Given the description of an element on the screen output the (x, y) to click on. 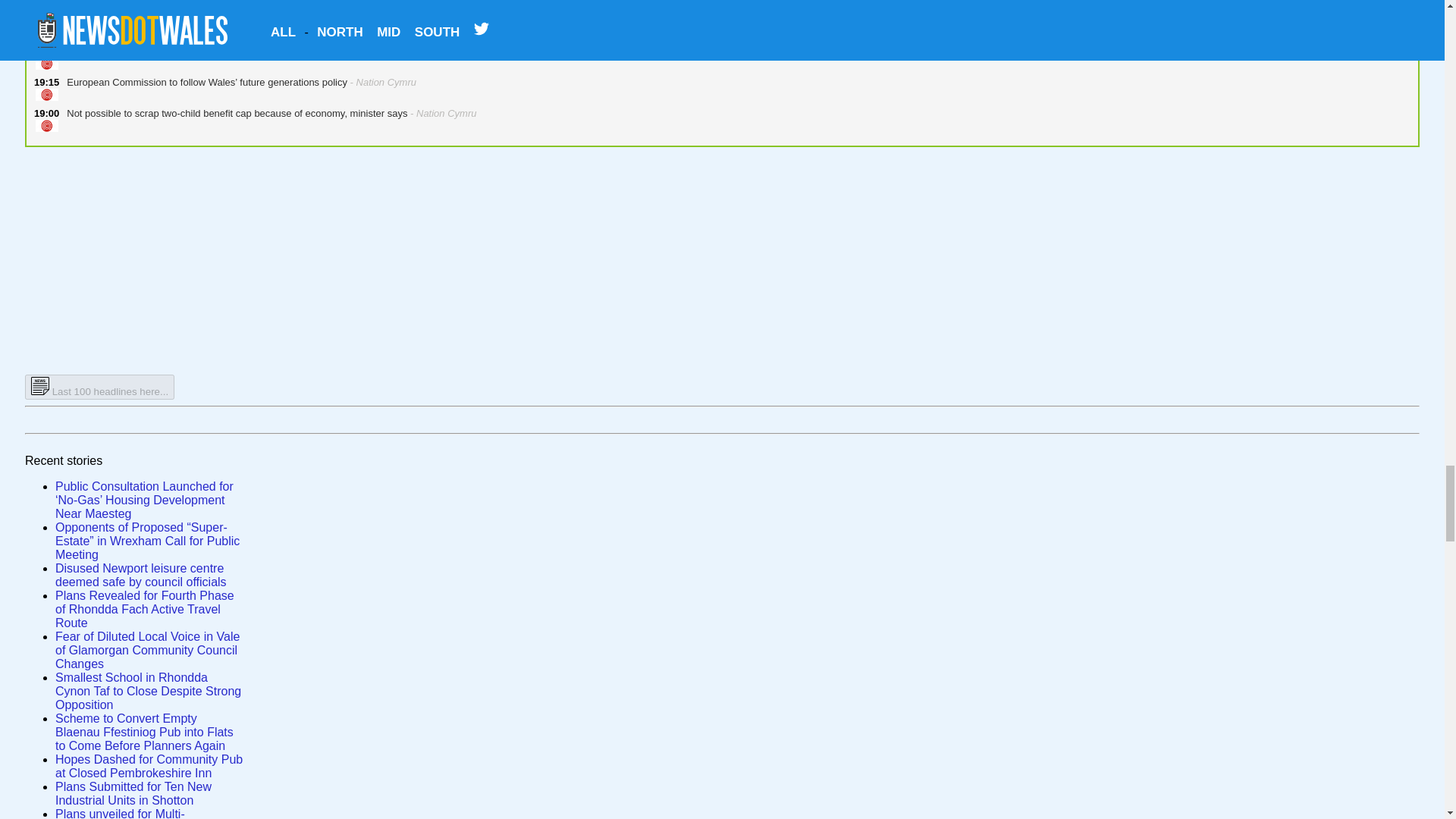
Proof that Vaughan Gething lied to the Senedd - Nation Cymru (199, 5)
Woman learns of her abuser's death via Facebook - BBC Wales (202, 27)
Last 100 headlines here... (99, 390)
Last 100 headlines here... (99, 386)
